Given the description of an element on the screen output the (x, y) to click on. 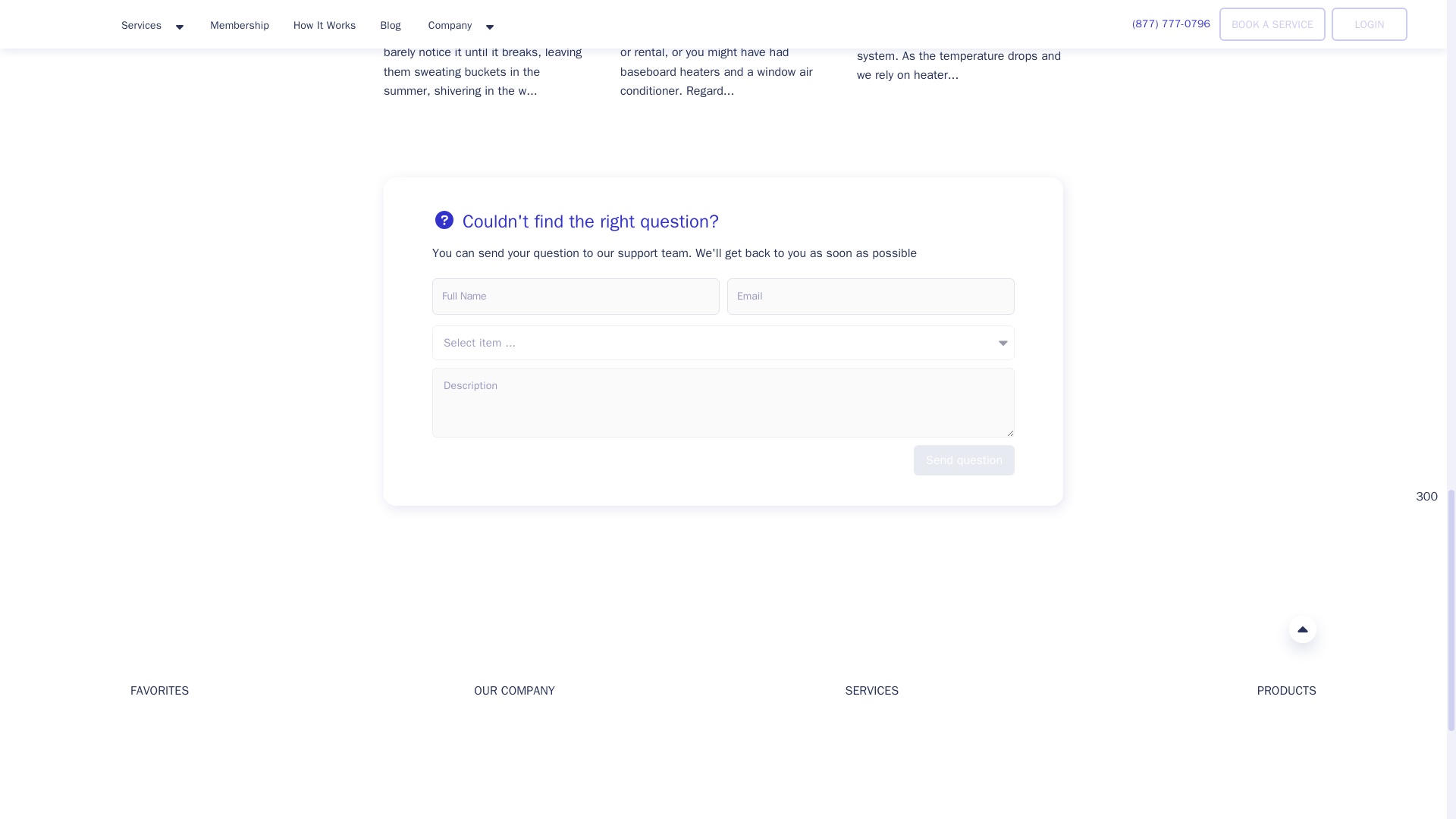
Blog (141, 751)
Locations (154, 799)
Welcome (152, 727)
About Us (496, 727)
Investors (496, 751)
HomeAlliance (146, 628)
Send question (964, 460)
Membership (160, 818)
Select item ... (723, 342)
